Given the description of an element on the screen output the (x, y) to click on. 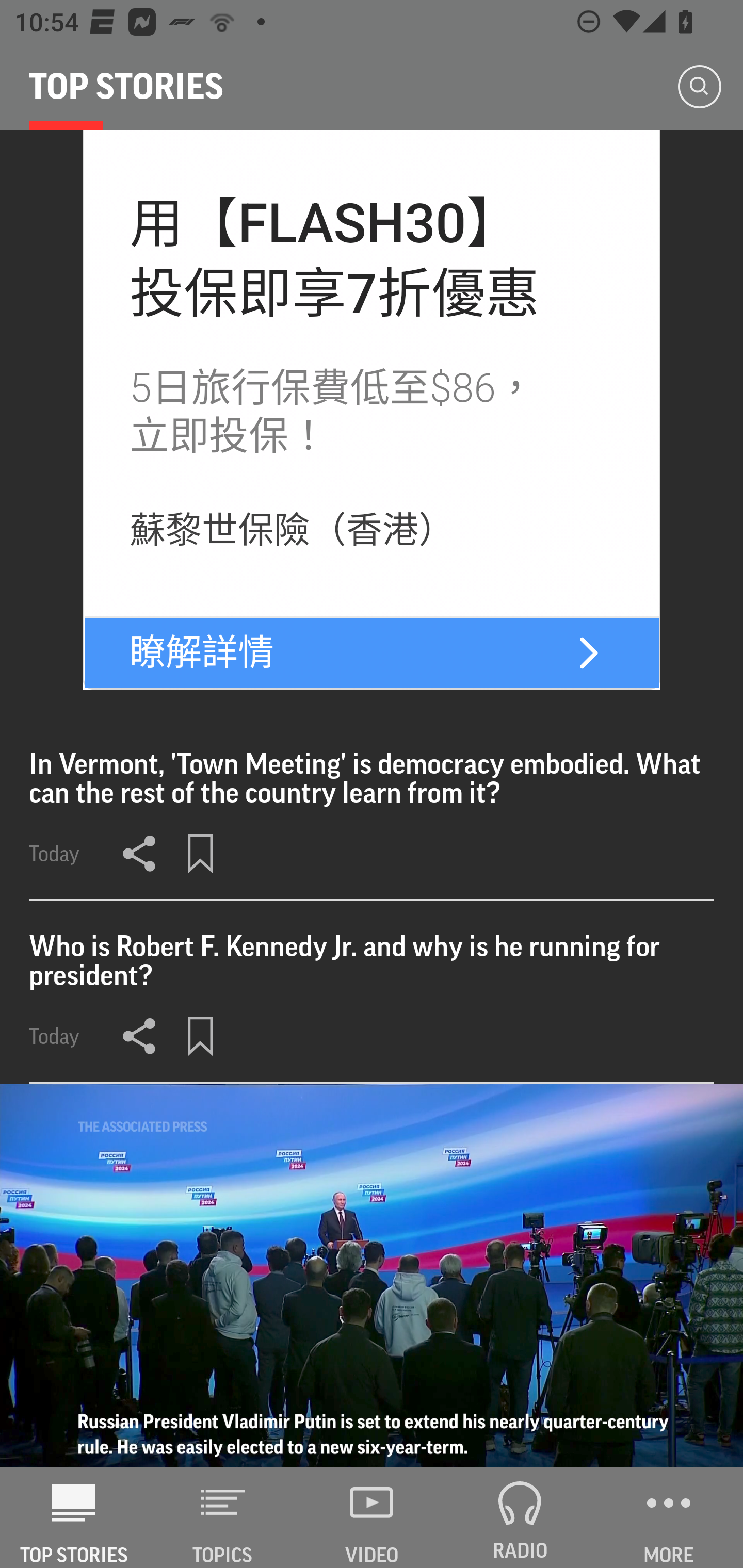
用【FLASH30】 投保即享7折優惠 用【FLASH30】 投保即享7折優惠 (334, 258)
5日旅行保費低至$86， 立即投保！ 5日旅行保費低至$86， 立即投保！ (332, 412)
蘇黎世保險（香港） (292, 530)
瞭解詳情 (202, 652)
toggle controls (371, 1275)
AP News TOP STORIES (74, 1517)
TOPICS (222, 1517)
VIDEO (371, 1517)
RADIO (519, 1517)
MORE (668, 1517)
